Given the description of an element on the screen output the (x, y) to click on. 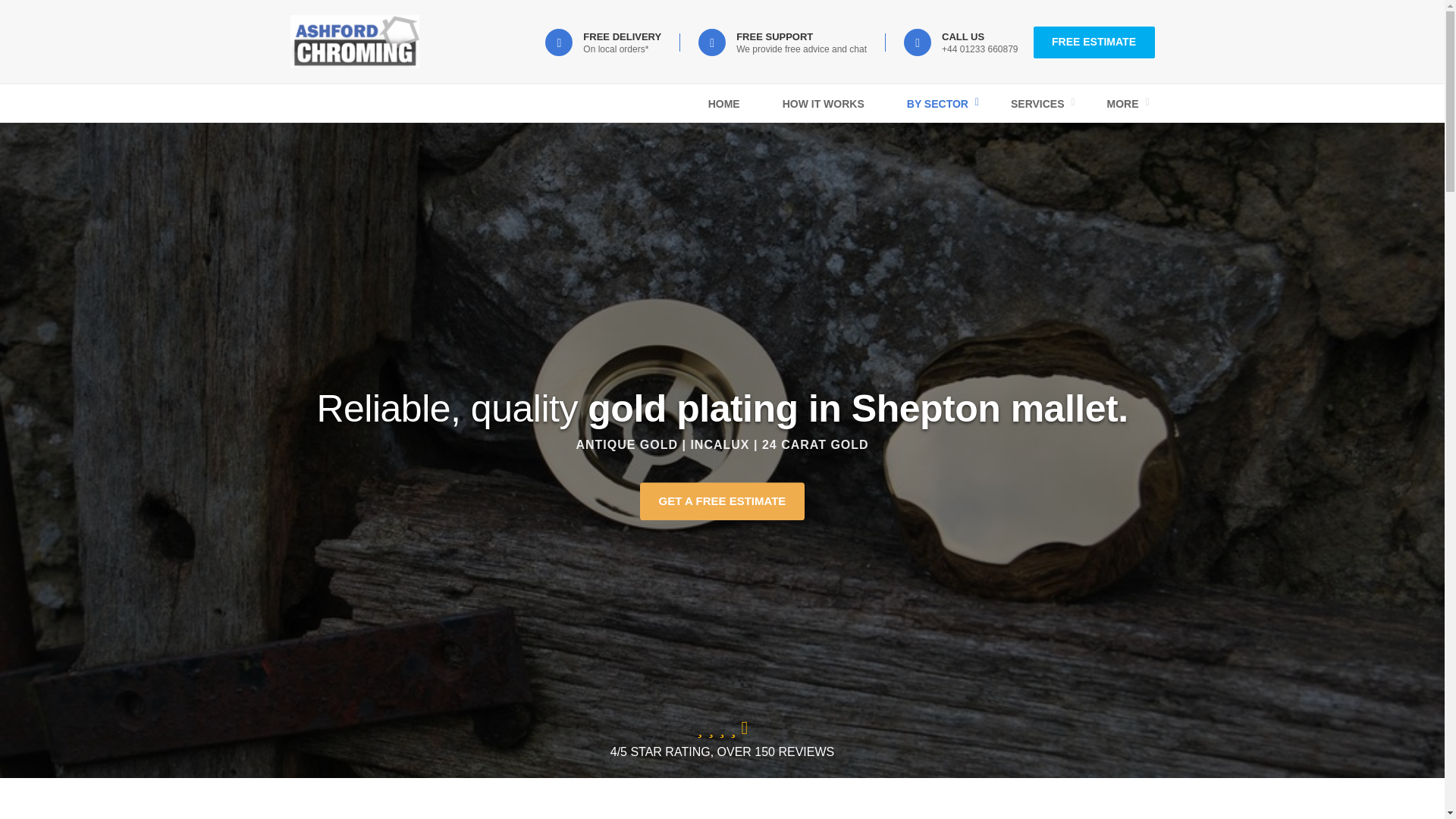
MORE (1123, 103)
HOW IT WORKS (823, 103)
GET A FREE ESTIMATE (722, 499)
HOME (724, 103)
BY SECTOR (937, 103)
FREE ESTIMATE (1093, 42)
SERVICES (1037, 103)
